Given the description of an element on the screen output the (x, y) to click on. 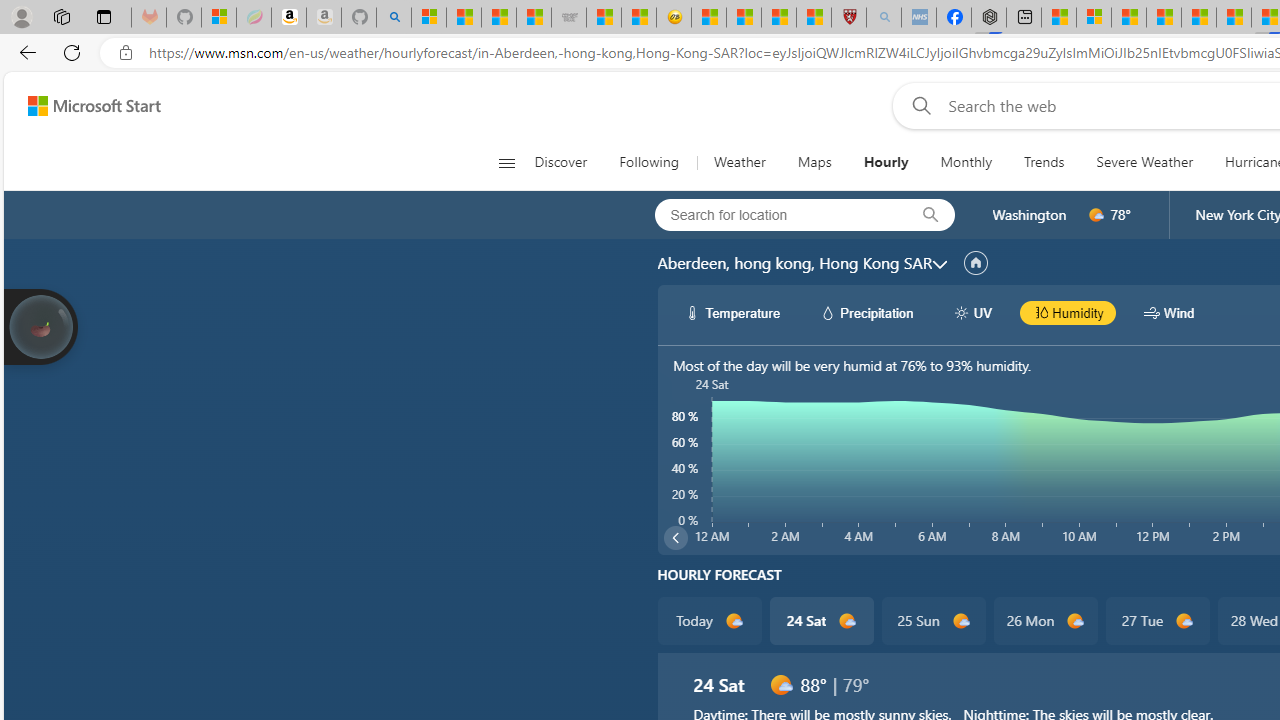
Severe Weather (1144, 162)
hourlyChart/humidityBlack (1040, 312)
hourlyChart/humidityBlack Humidity (1068, 312)
hourlyChart/temperatureWhite Temperature (733, 312)
